Given the description of an element on the screen output the (x, y) to click on. 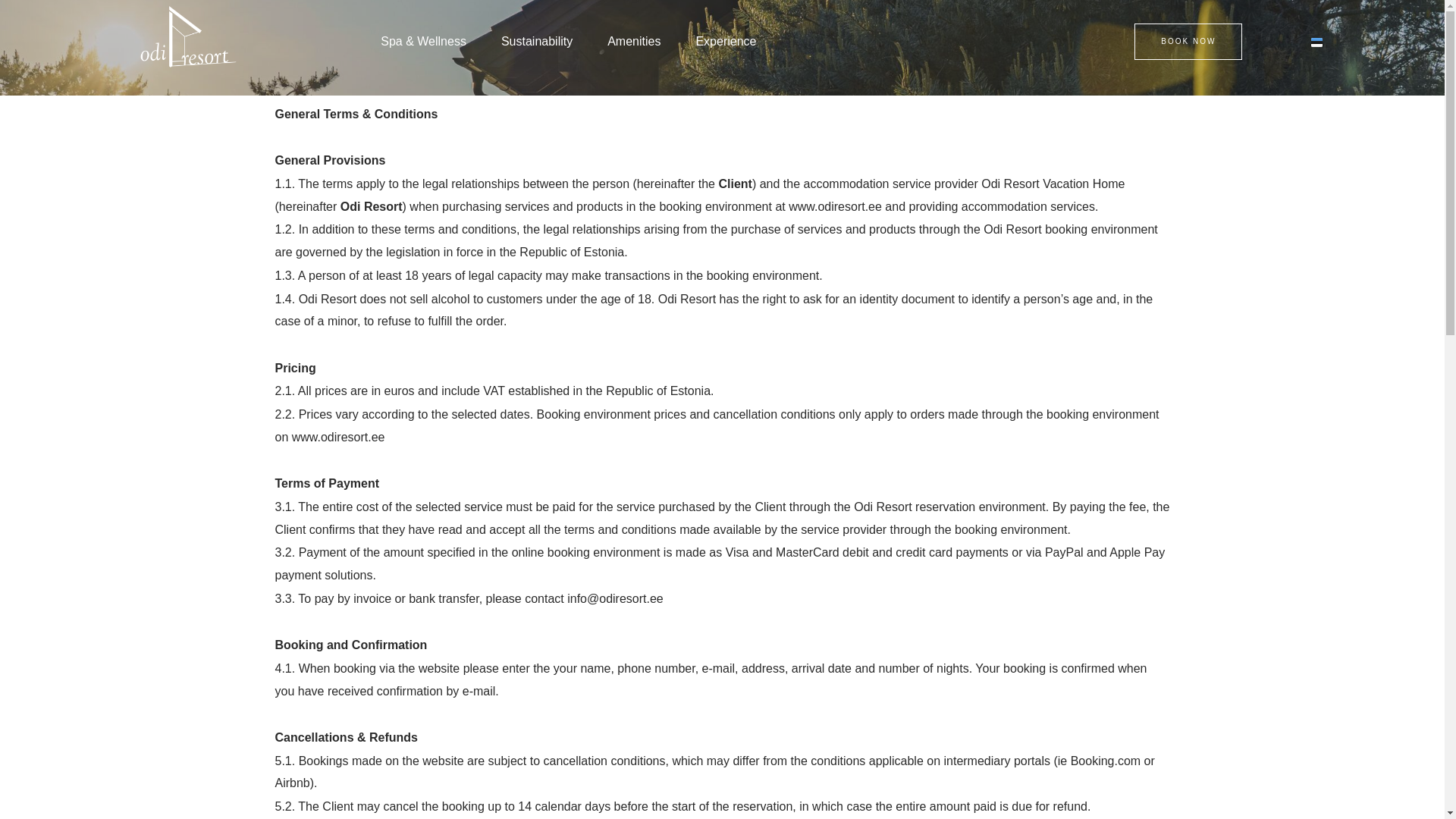
BOOK NOW (1187, 41)
Amenities (633, 41)
Experience (725, 41)
Sustainability (537, 41)
